Given the description of an element on the screen output the (x, y) to click on. 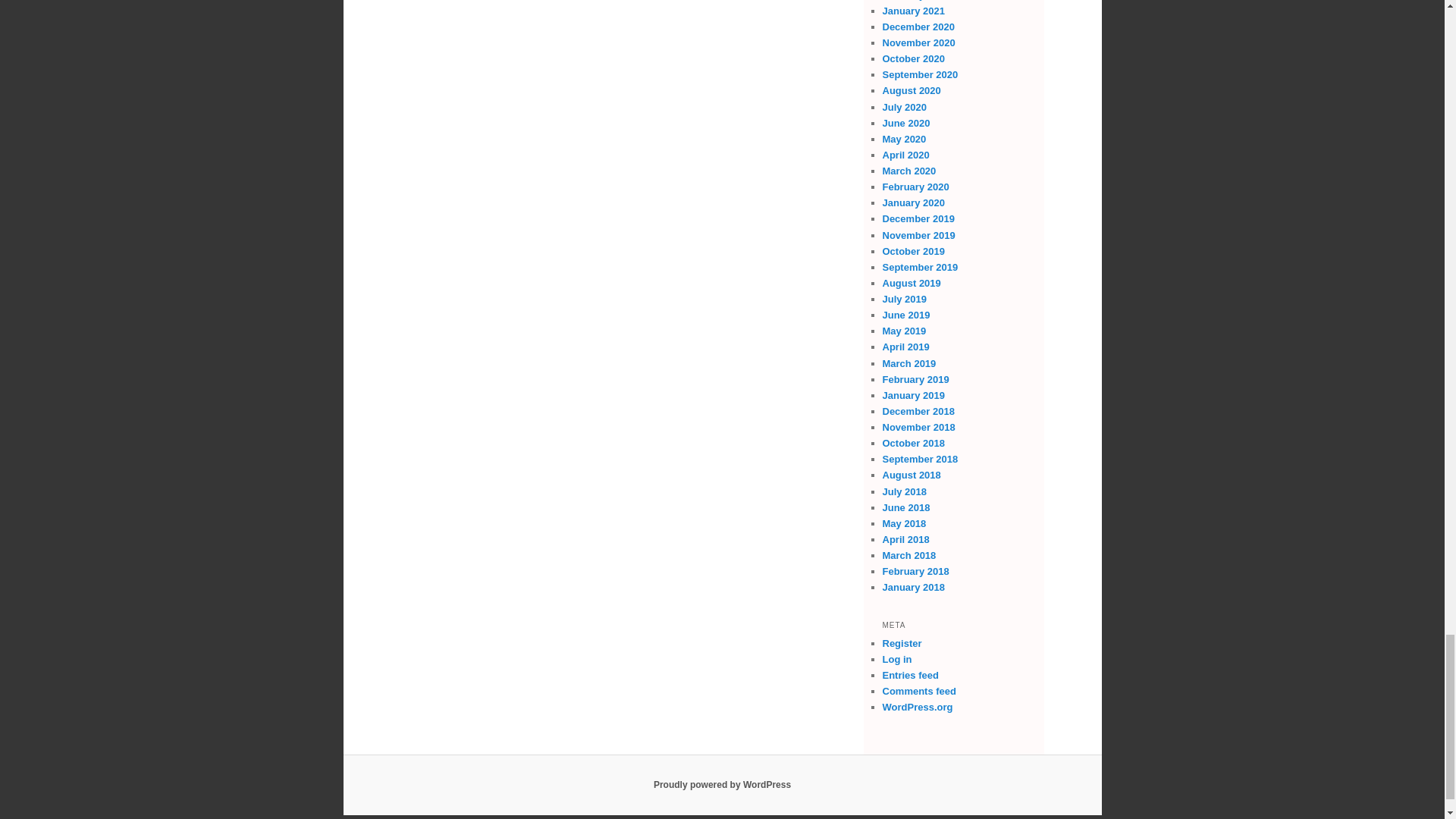
Semantic Personal Publishing Platform (721, 784)
